Given the description of an element on the screen output the (x, y) to click on. 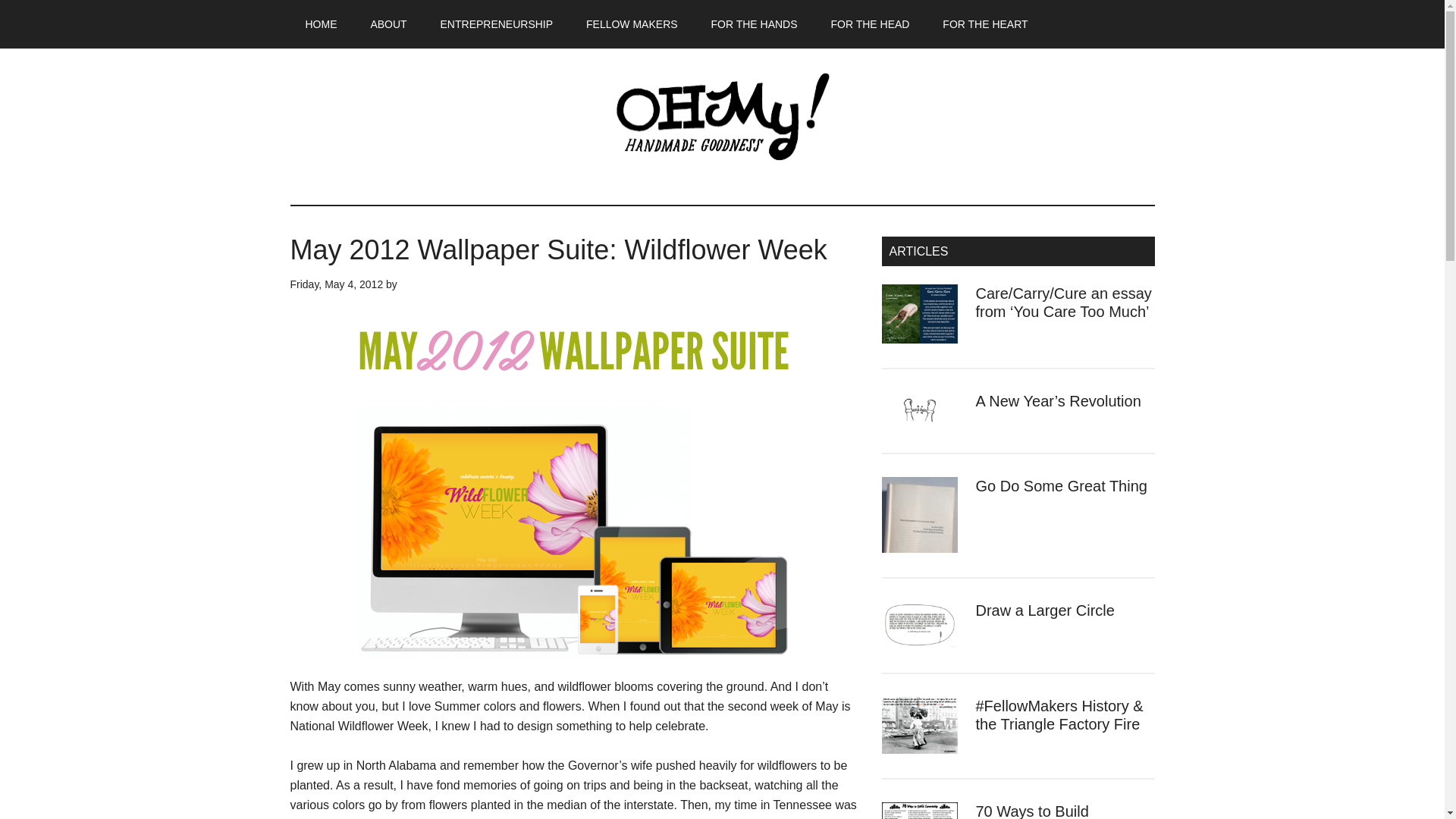
ABOUT (388, 24)
ENTREPRENEURSHIP (497, 24)
HOME (320, 24)
FELLOW MAKERS (631, 24)
FOR THE HEAD (869, 24)
FOR THE HEART (984, 24)
FOR THE HANDS (753, 24)
